Given the description of an element on the screen output the (x, y) to click on. 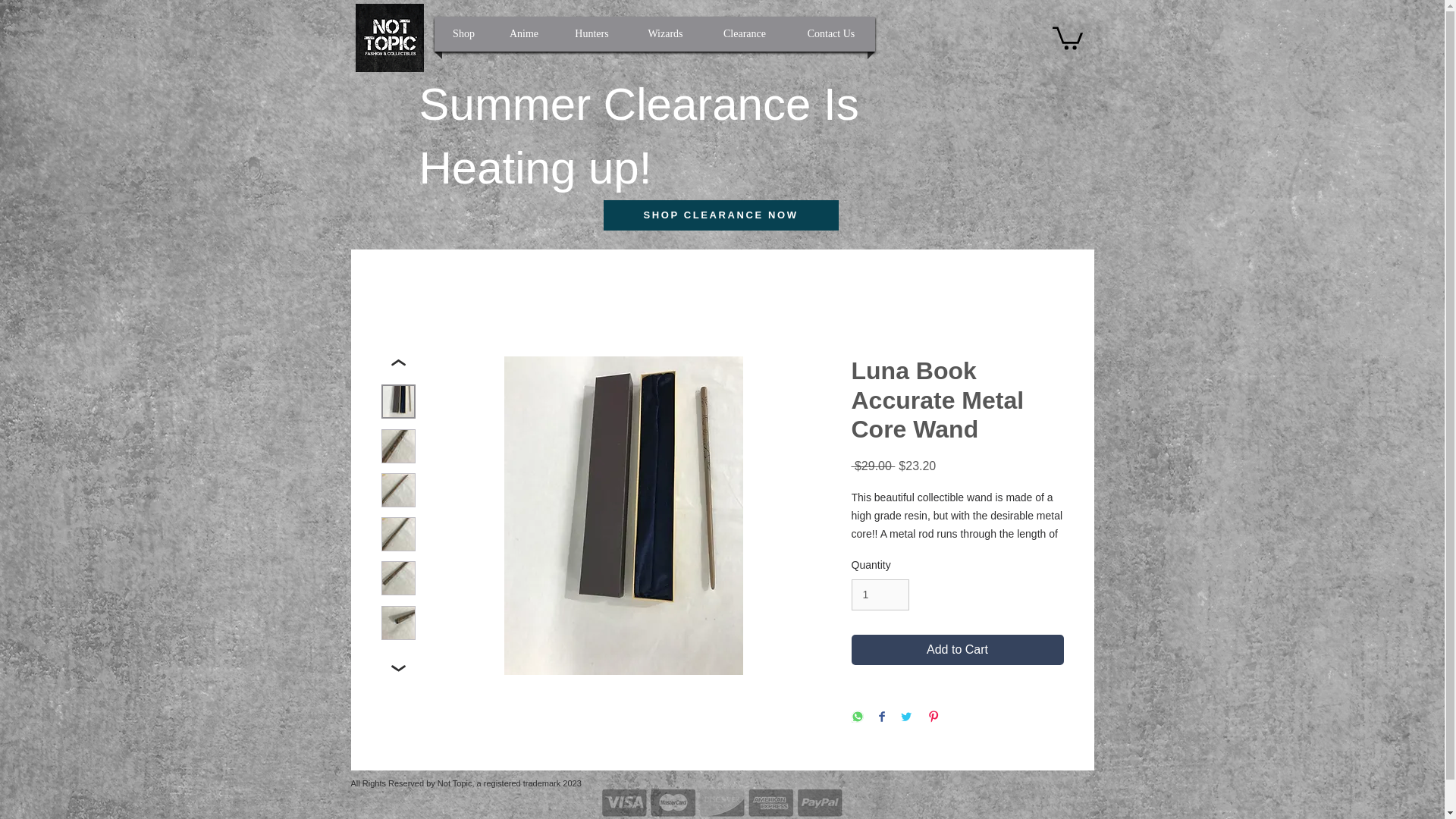
Shop (463, 33)
Add to Cart (956, 649)
SHOP CLEARANCE NOW (721, 214)
Contact Us (831, 33)
Hunters (590, 33)
Wizards (664, 33)
Not Topic Square logo take 2-01.png (389, 38)
Anime (524, 33)
1 (879, 594)
Clearance (743, 33)
